Given the description of an element on the screen output the (x, y) to click on. 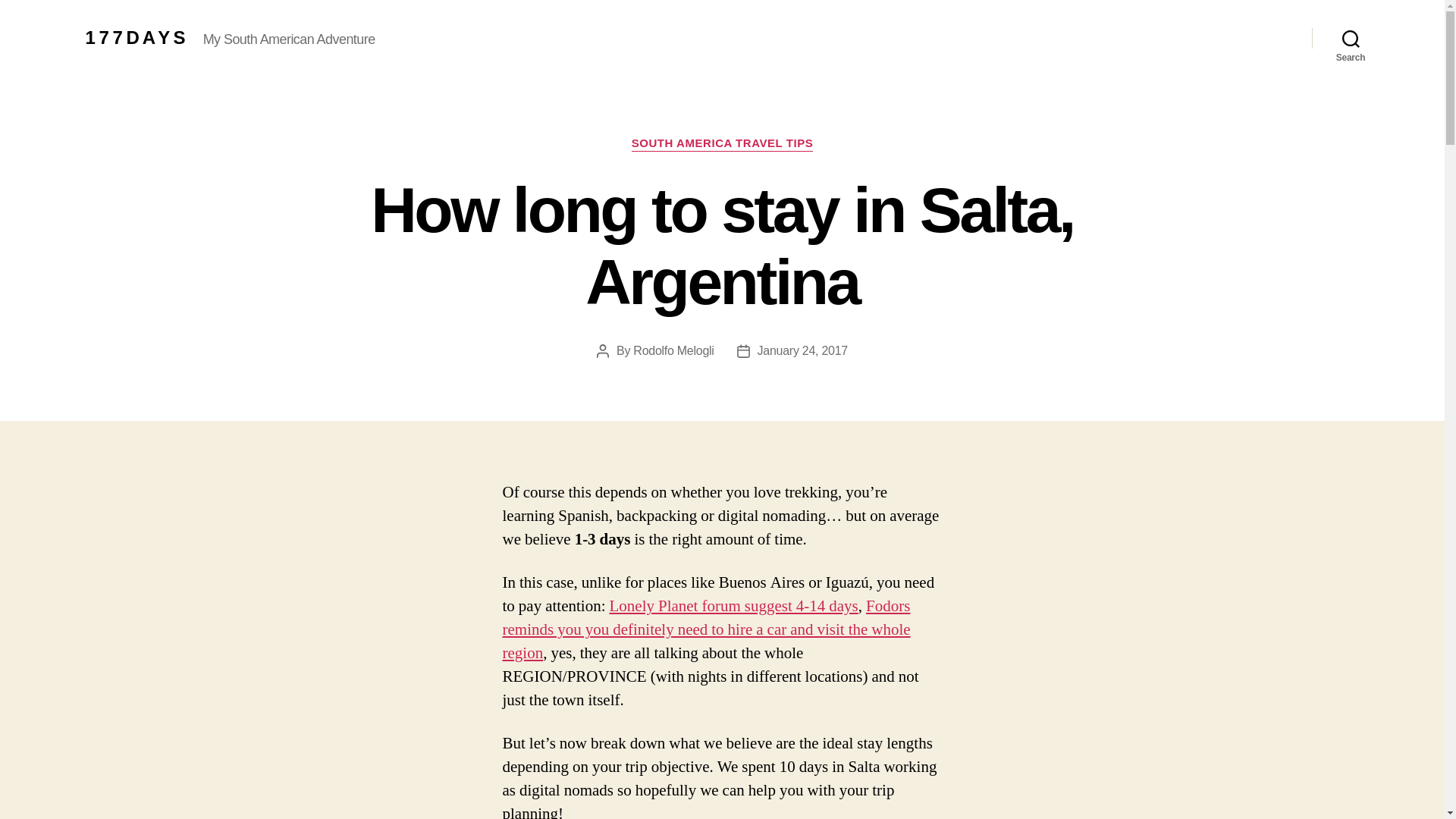
Lonely Planet forum suggest 4-14 days (732, 606)
Rodolfo Melogli (673, 350)
SOUTH AMERICA TRAVEL TIPS (722, 143)
1 7 7 D A Y S (134, 37)
Search (1350, 37)
January 24, 2017 (802, 350)
